Given the description of an element on the screen output the (x, y) to click on. 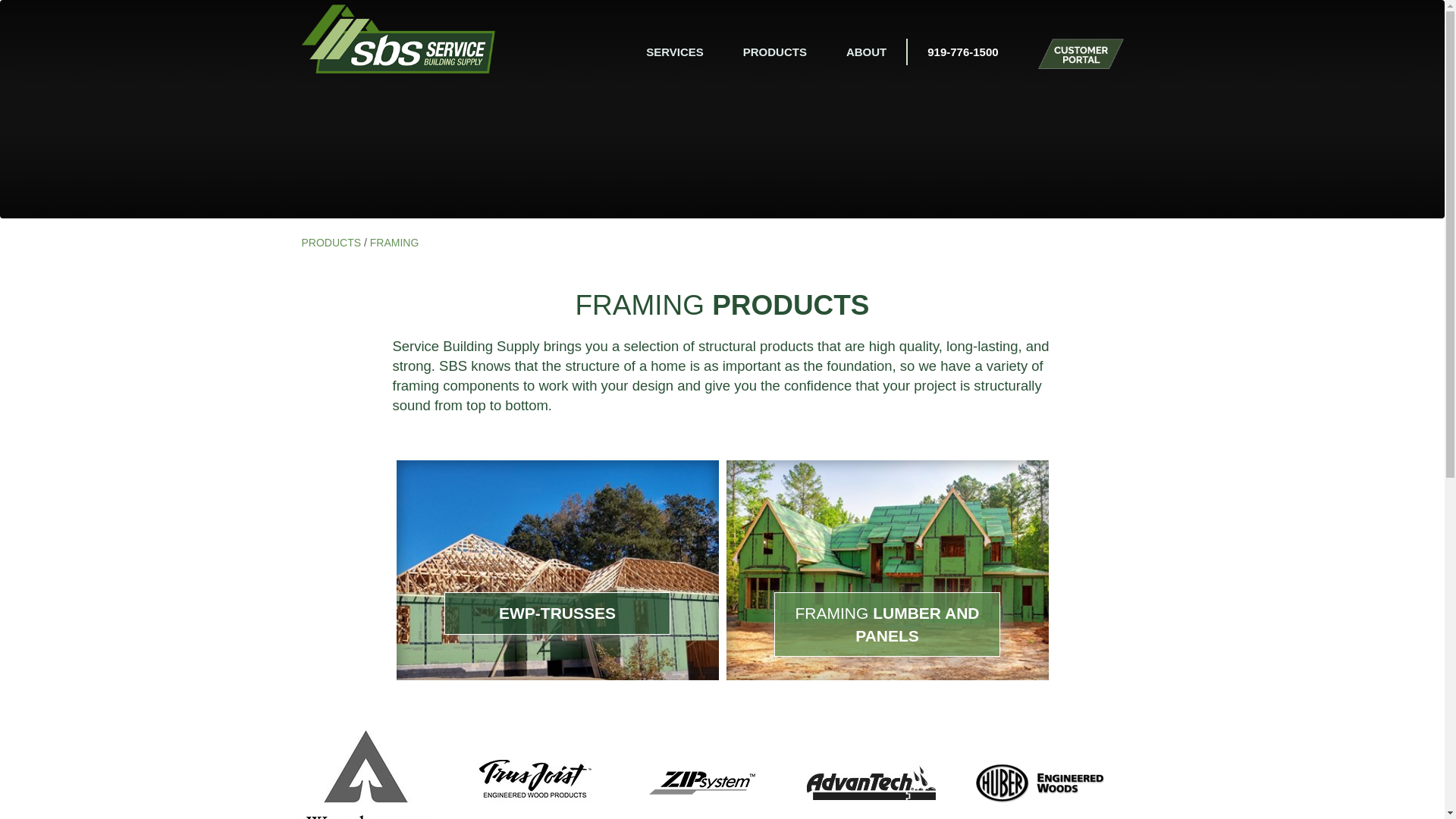
SERVICES (674, 51)
Service Building Supply (398, 38)
919-776-1500 (962, 51)
ABOUT (866, 51)
PRODUCTS (775, 51)
